Given the description of an element on the screen output the (x, y) to click on. 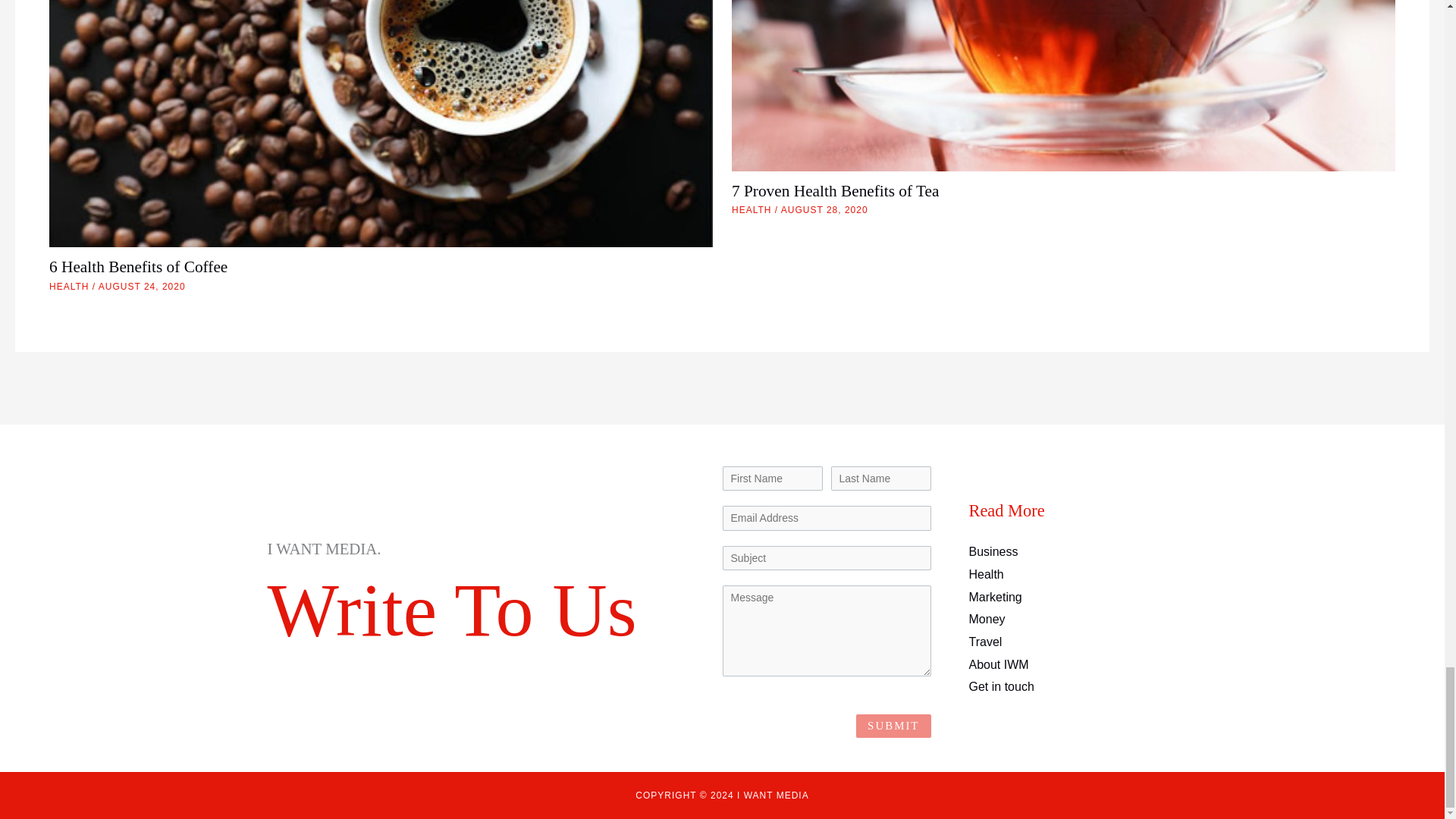
6 Health Benefits of Coffee (138, 266)
HEALTH (68, 286)
